Given the description of an element on the screen output the (x, y) to click on. 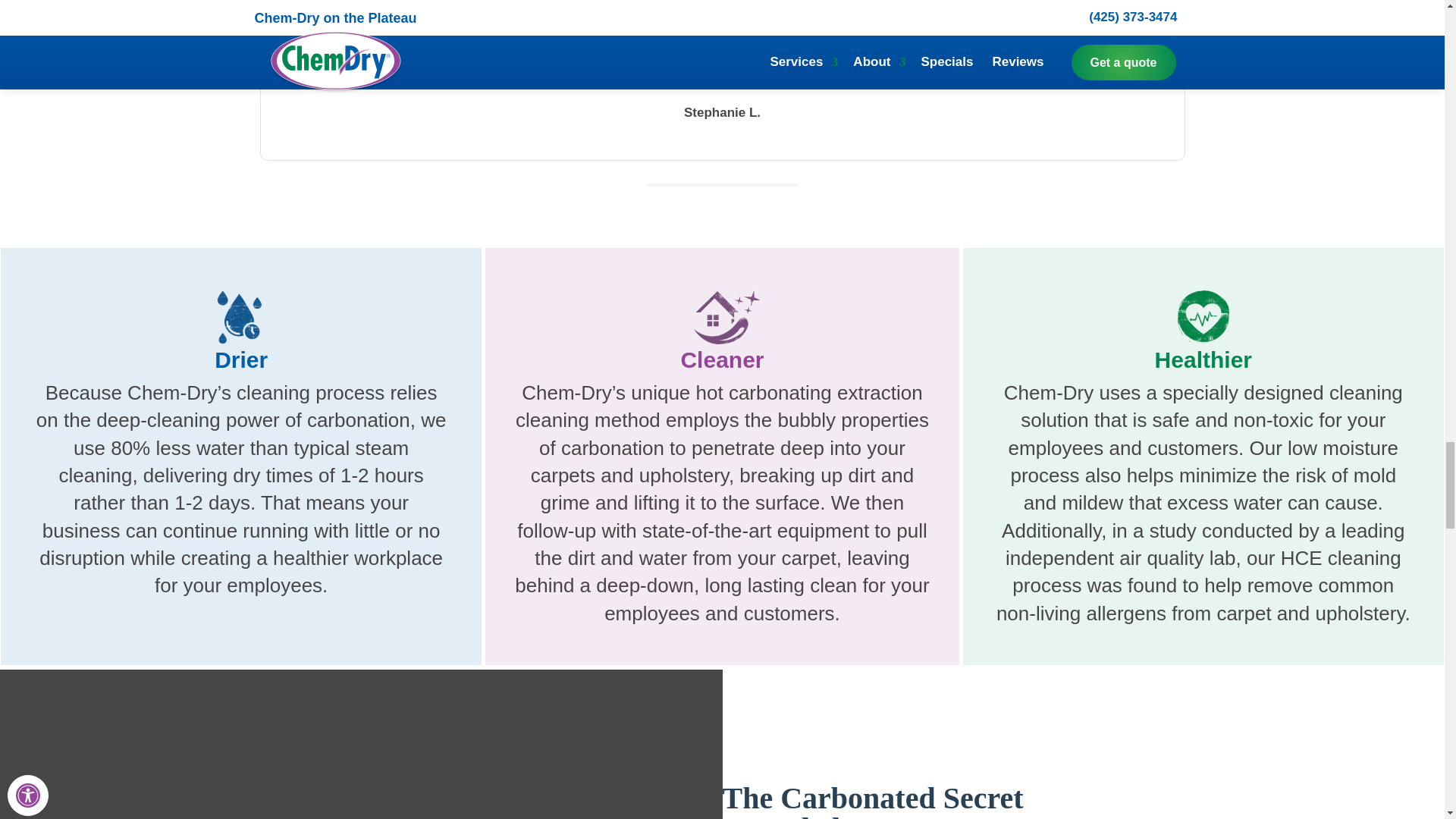
cd8-drier-icon (241, 316)
cd8-healthier-icon (1203, 316)
cd8-cleaner-icon (722, 316)
